Given the description of an element on the screen output the (x, y) to click on. 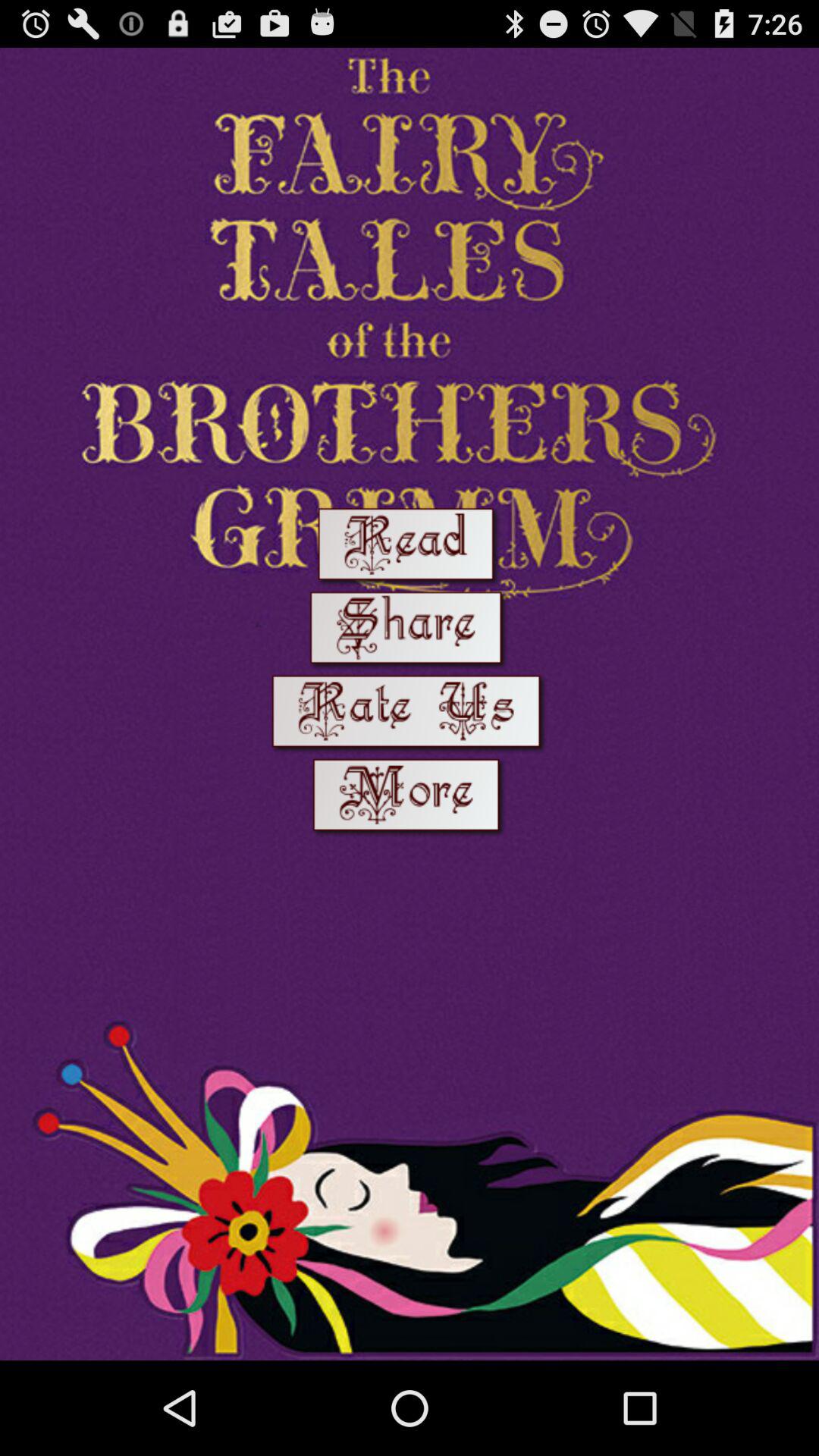
read more (409, 798)
